Given the description of an element on the screen output the (x, y) to click on. 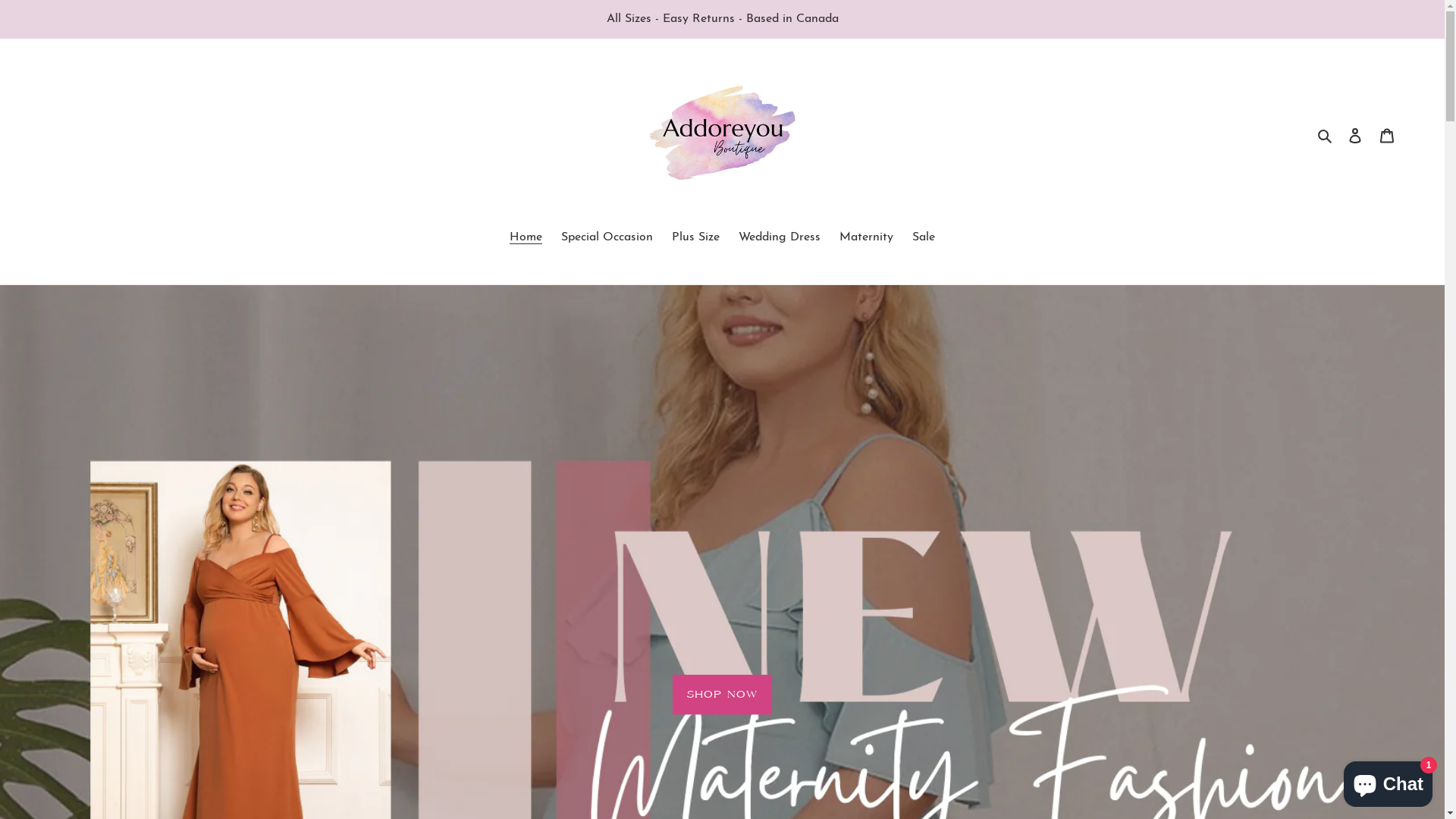
Wedding Dress Element type: text (779, 238)
Log in Element type: text (1355, 134)
Sale Element type: text (923, 238)
Cart Element type: text (1386, 134)
Plus Size Element type: text (695, 238)
Special Occasion Element type: text (606, 238)
Maternity Element type: text (865, 238)
Home Element type: text (525, 238)
SHOP NOW Element type: text (721, 694)
Shopify online store chat Element type: hover (1388, 780)
Search Element type: text (1325, 135)
